Given the description of an element on the screen output the (x, y) to click on. 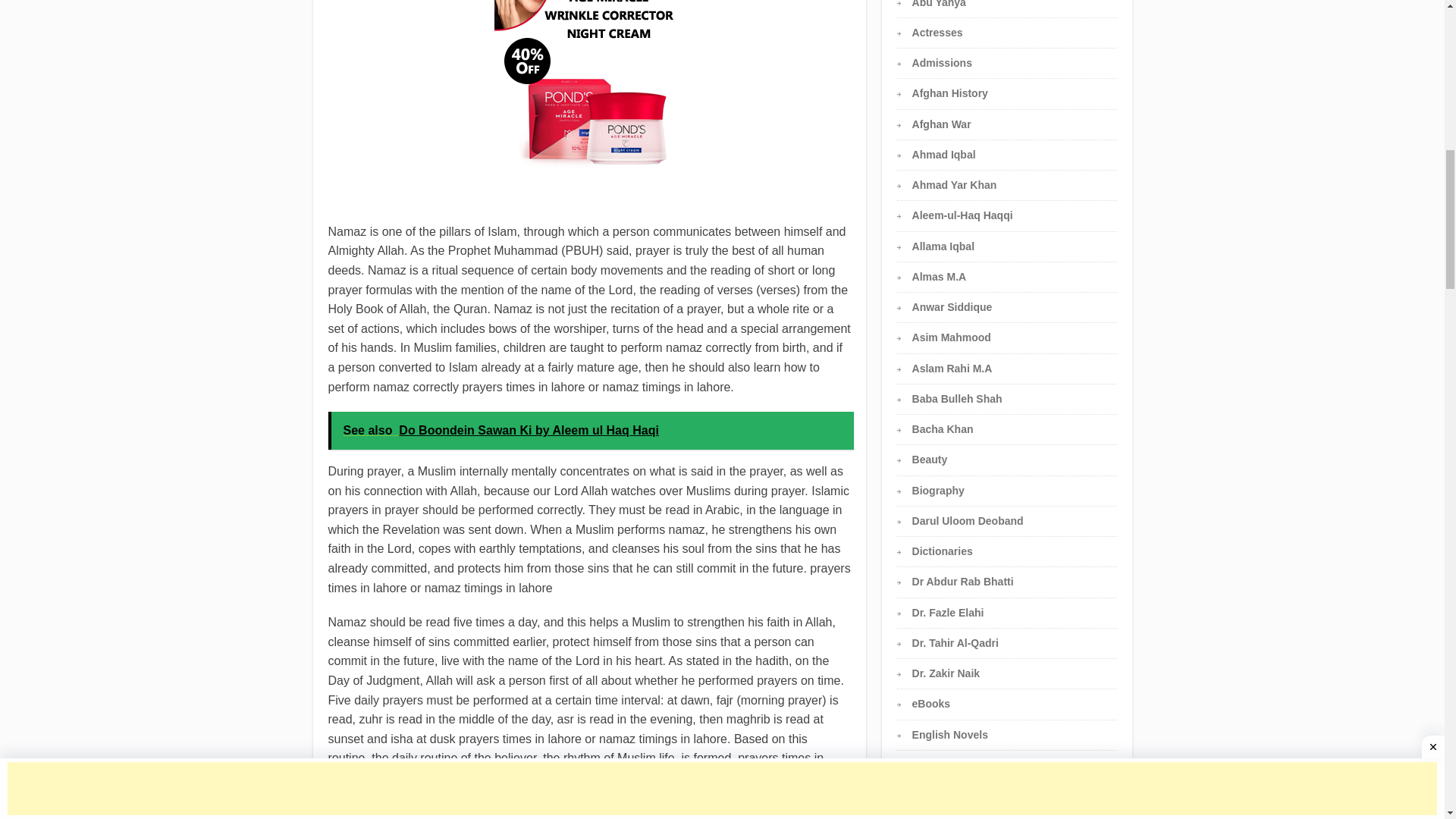
Aleem-ul-Haq Haqqi (962, 215)
Abu Yahya (939, 4)
See also  Do Boondein Sawan Ki by Aleem ul Haq Haqi (590, 430)
Actresses (937, 32)
Afghan History (950, 92)
See also  Mir-e-Karwan By Aleem-ul-Haq Haqqi (590, 811)
Ahmad Yar Khan (954, 184)
Afghan War (941, 123)
Admissions (942, 62)
Ahmad Iqbal (943, 154)
Allama Iqbal (943, 246)
